Given the description of an element on the screen output the (x, y) to click on. 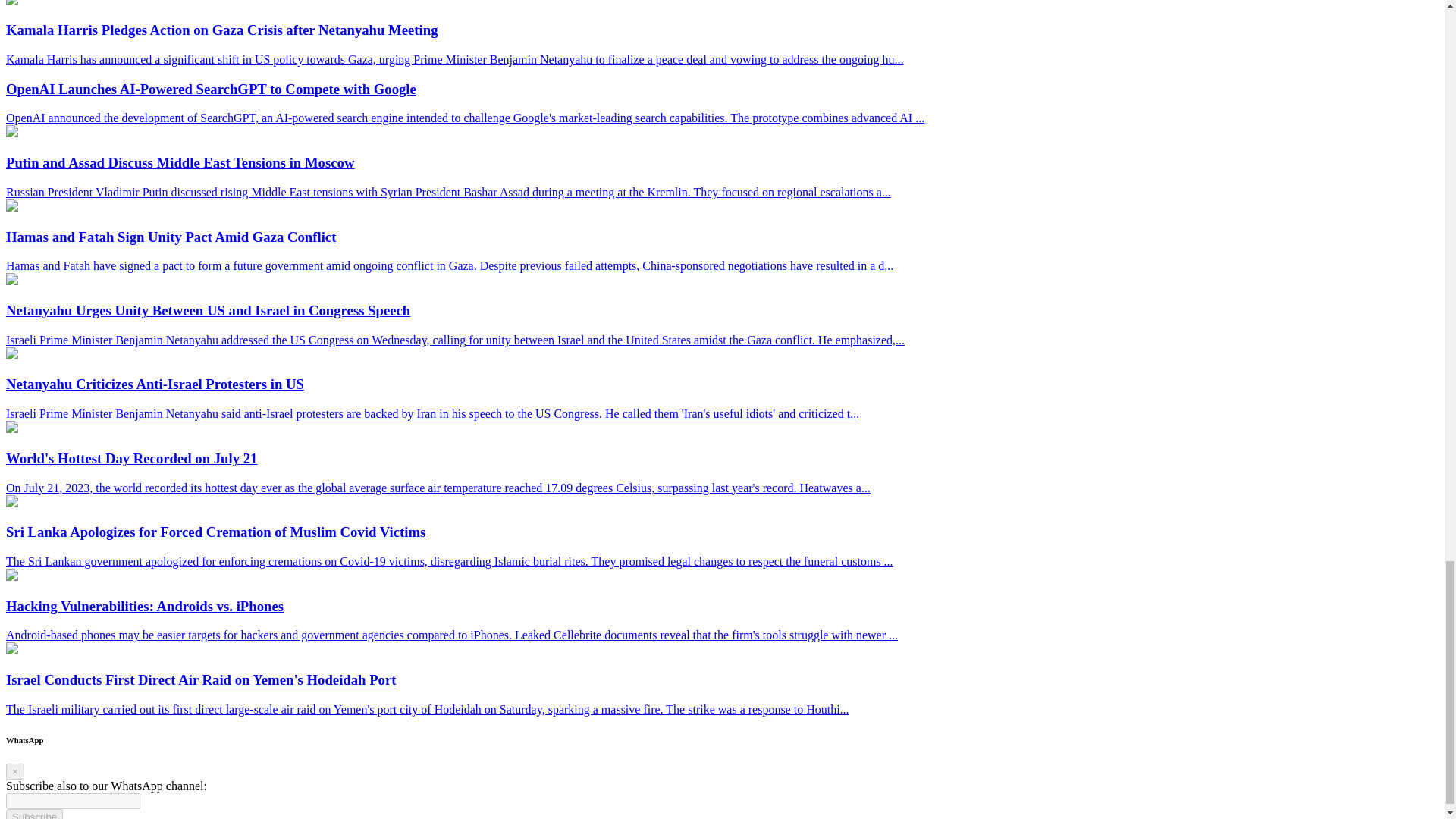
Hamas and Fatah Sign Unity Pact Amid Gaza Conflict (11, 206)
World's Hottest Day Recorded on July 21 (11, 428)
Netanyahu Criticizes Anti-Israel Protesters in US (11, 354)
Hacking Vulnerabilities: Androids vs. iPhones (11, 576)
Putin and Assad Discuss Middle East Tensions in Moscow (11, 132)
